Given the description of an element on the screen output the (x, y) to click on. 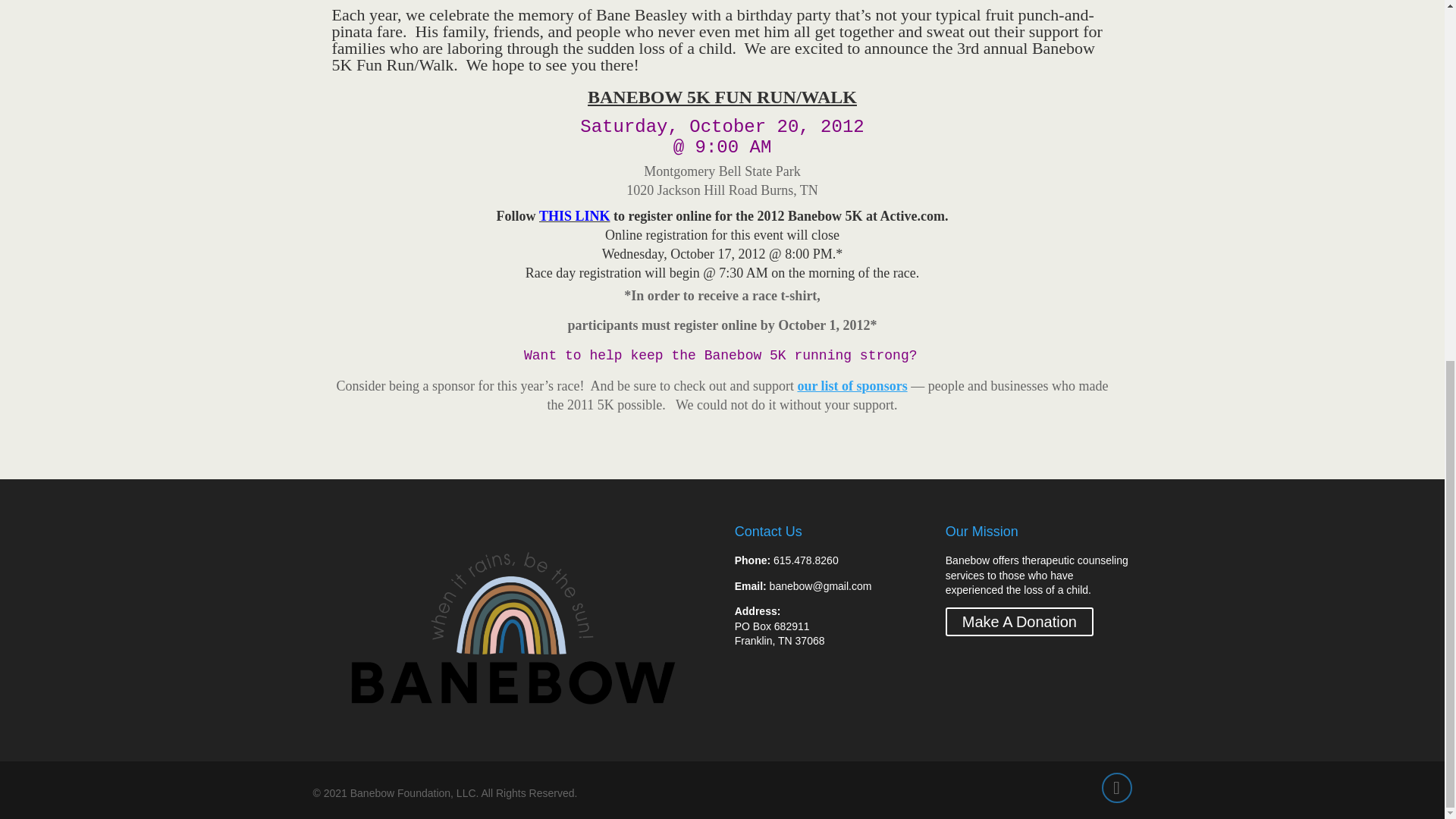
THIS LINK (574, 215)
our list of sponsors (853, 385)
Bane Beasley (641, 14)
